Given the description of an element on the screen output the (x, y) to click on. 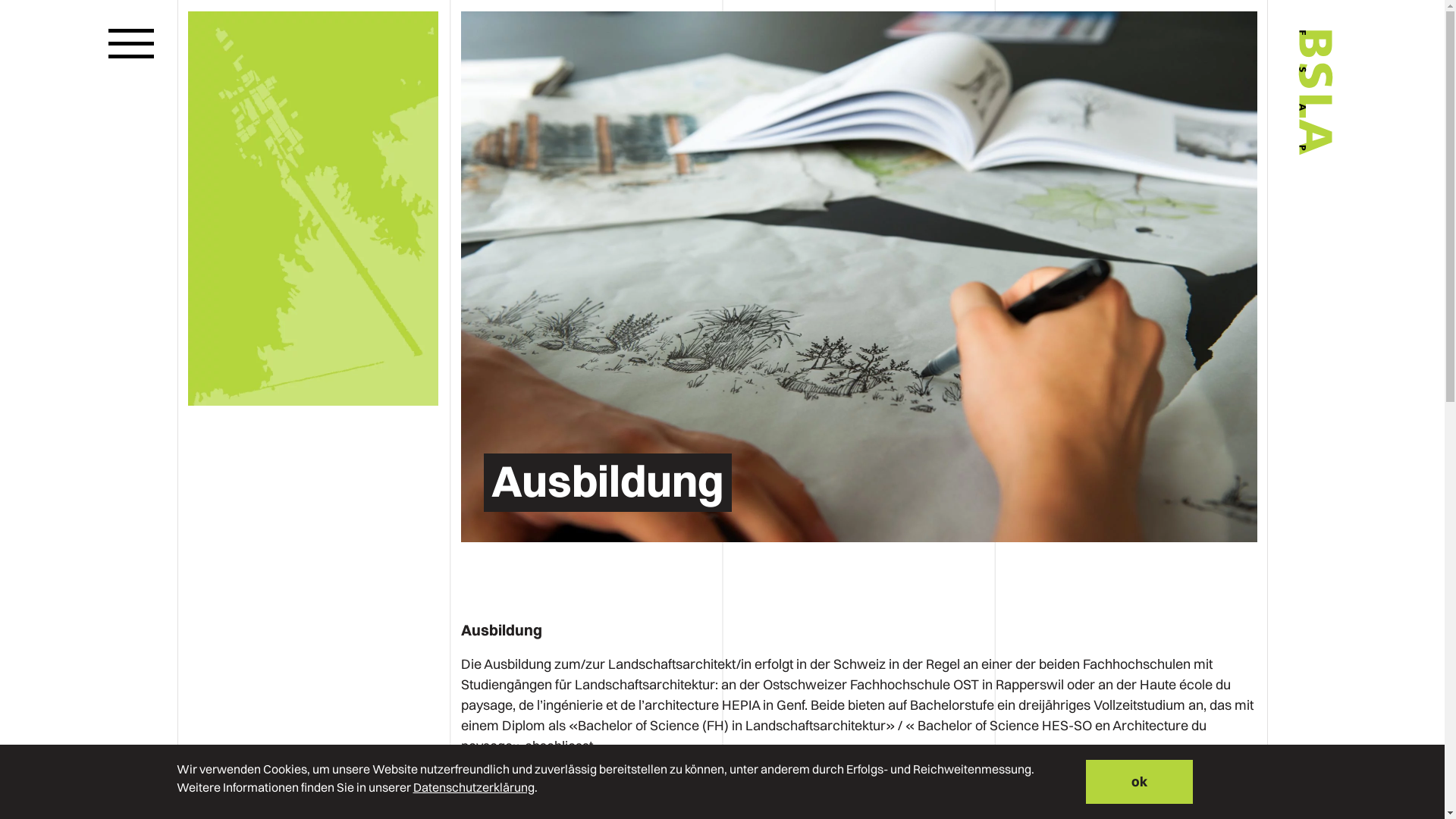
ok Element type: text (1138, 781)
